Given the description of an element on the screen output the (x, y) to click on. 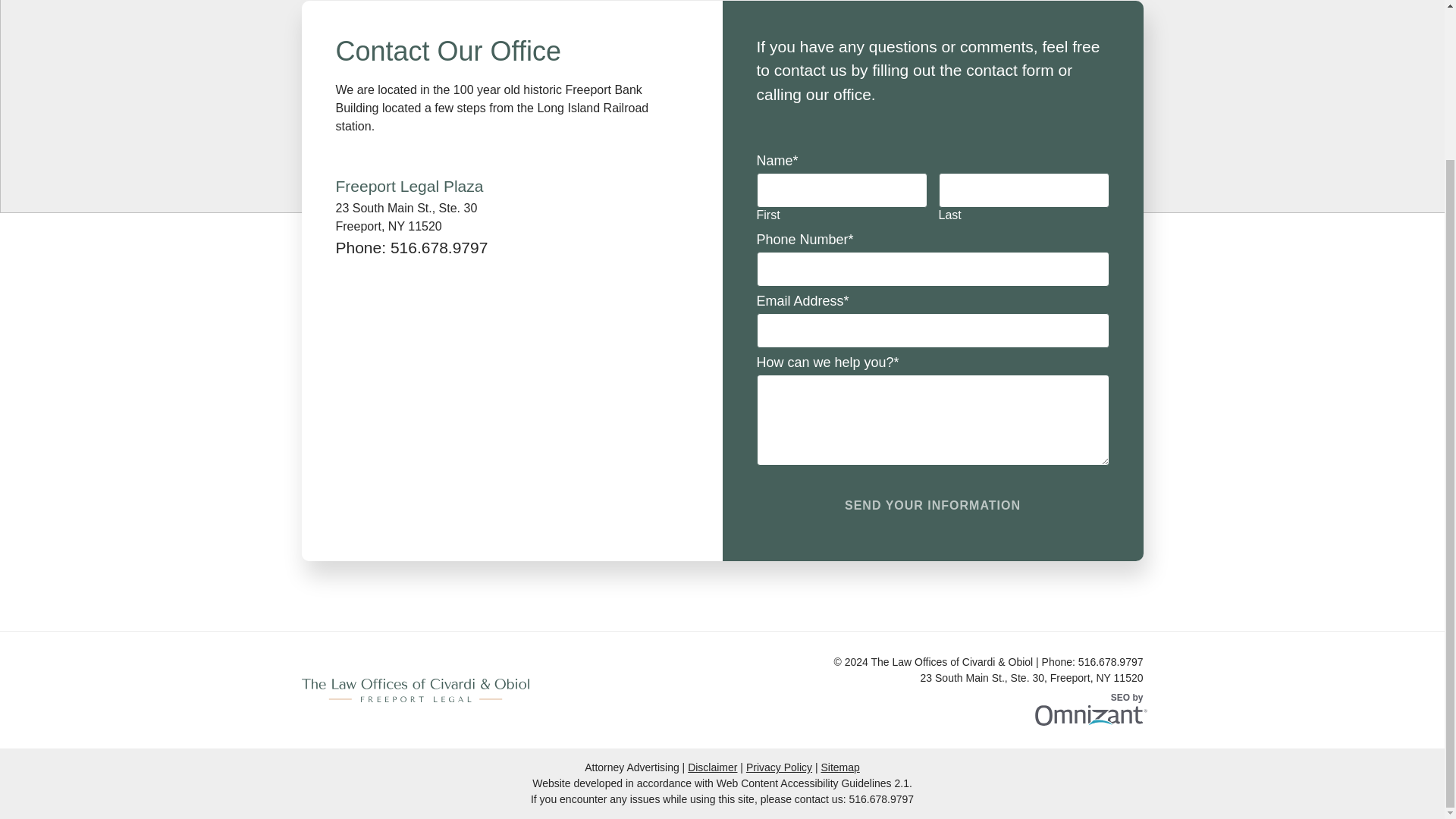
Disclaimer (711, 767)
Sitemap (840, 767)
516.678.9797 (438, 247)
SEND YOUR INFORMATION (881, 799)
Privacy Policy (933, 505)
